Given the description of an element on the screen output the (x, y) to click on. 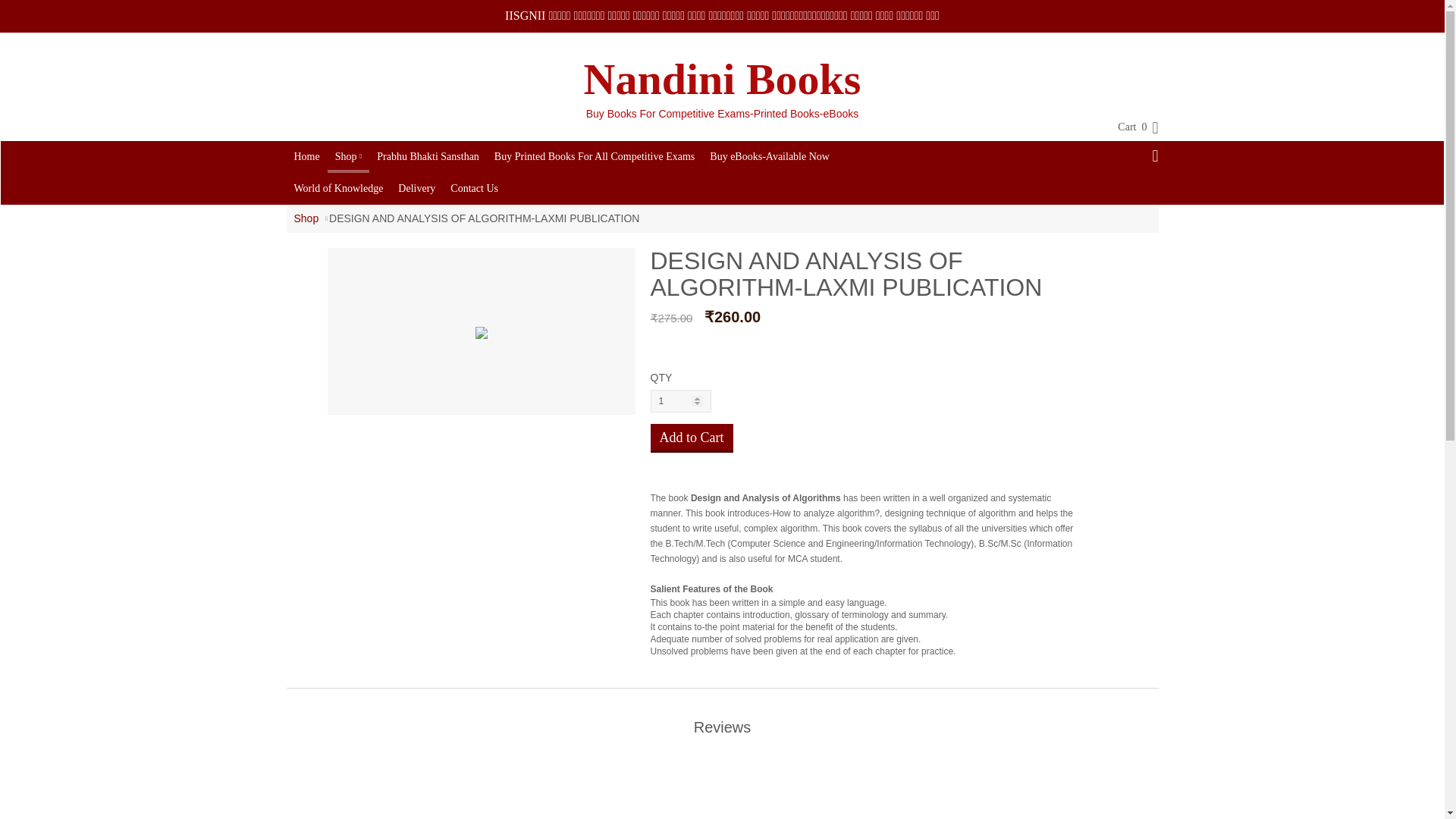
Shop (348, 154)
Contact Us (473, 188)
Cart  0   (1129, 126)
Shop (306, 218)
Home (306, 156)
1 (680, 400)
Delivery (416, 188)
Buy eBooks-Available Now (769, 156)
Add to Cart (691, 438)
Buy Printed Books For All Competitive Exams (593, 156)
